Given the description of an element on the screen output the (x, y) to click on. 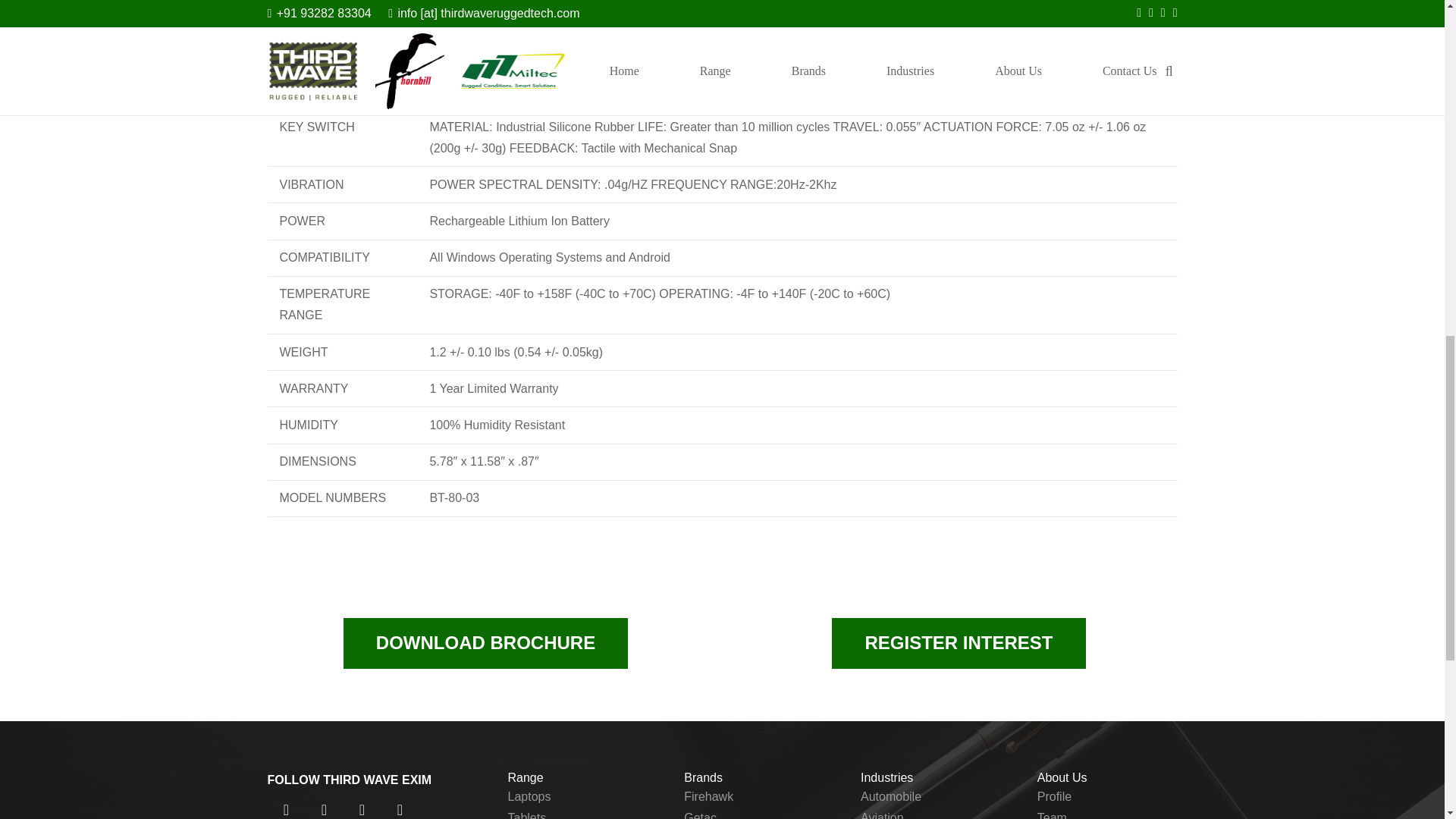
YouTube (399, 805)
Facebook (285, 805)
Twitter (323, 805)
Back to top (1413, 26)
LinkedIn (361, 805)
